Given the description of an element on the screen output the (x, y) to click on. 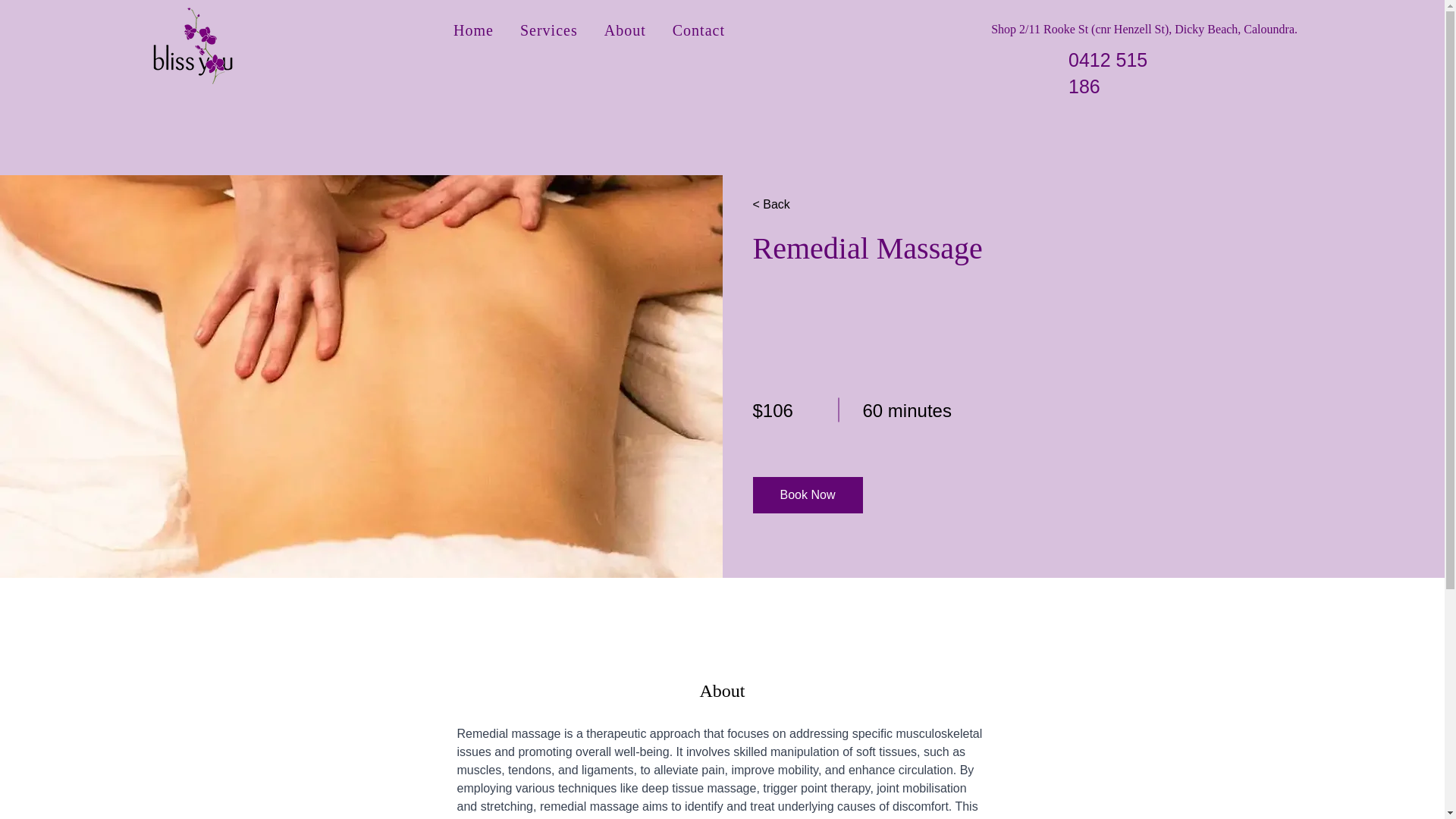
Home (472, 30)
About (625, 30)
Contact (698, 30)
